Given the description of an element on the screen output the (x, y) to click on. 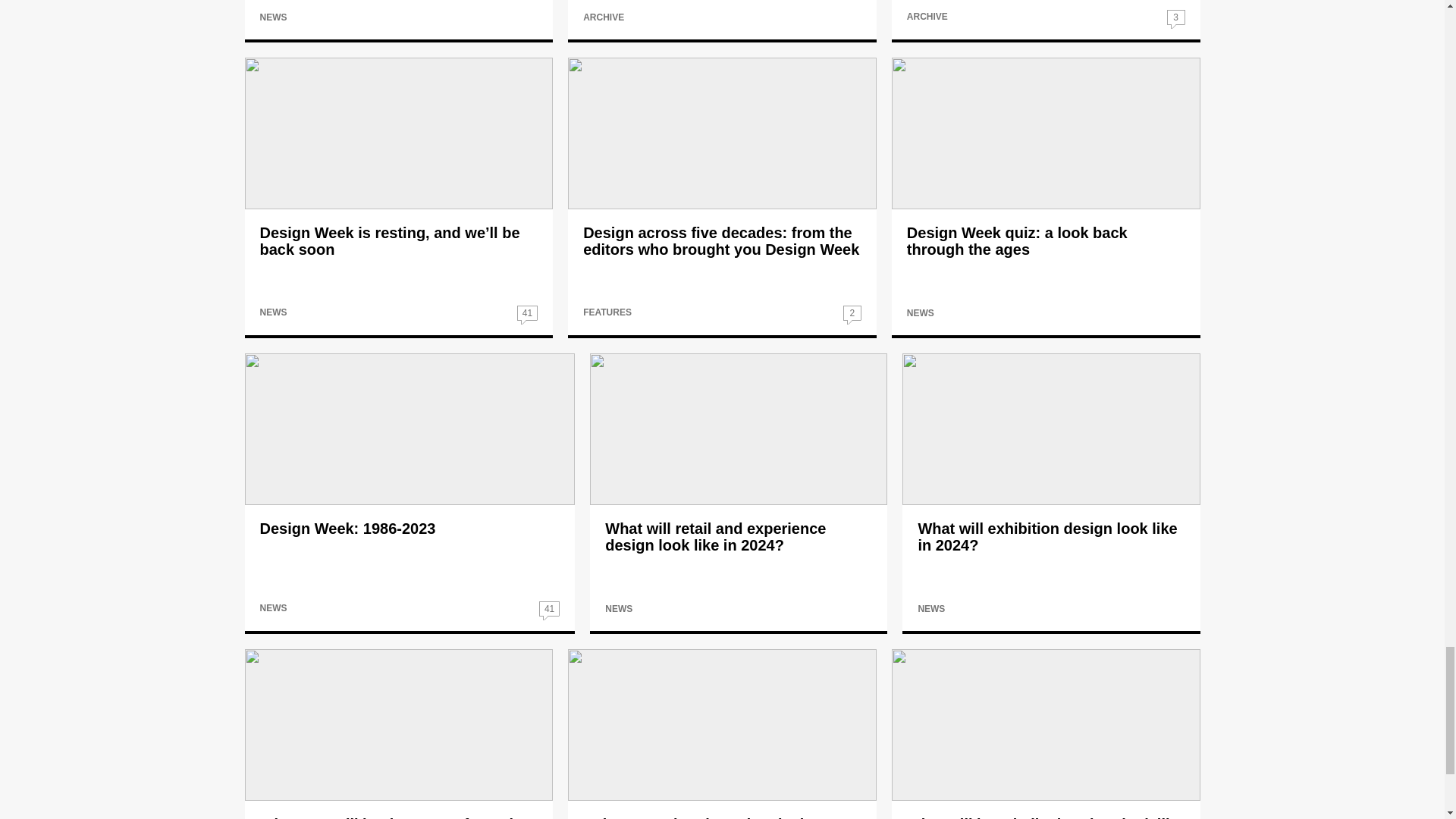
ARCHIVE (603, 17)
ARCHIVE (927, 16)
NEWS (272, 17)
